Given the description of an element on the screen output the (x, y) to click on. 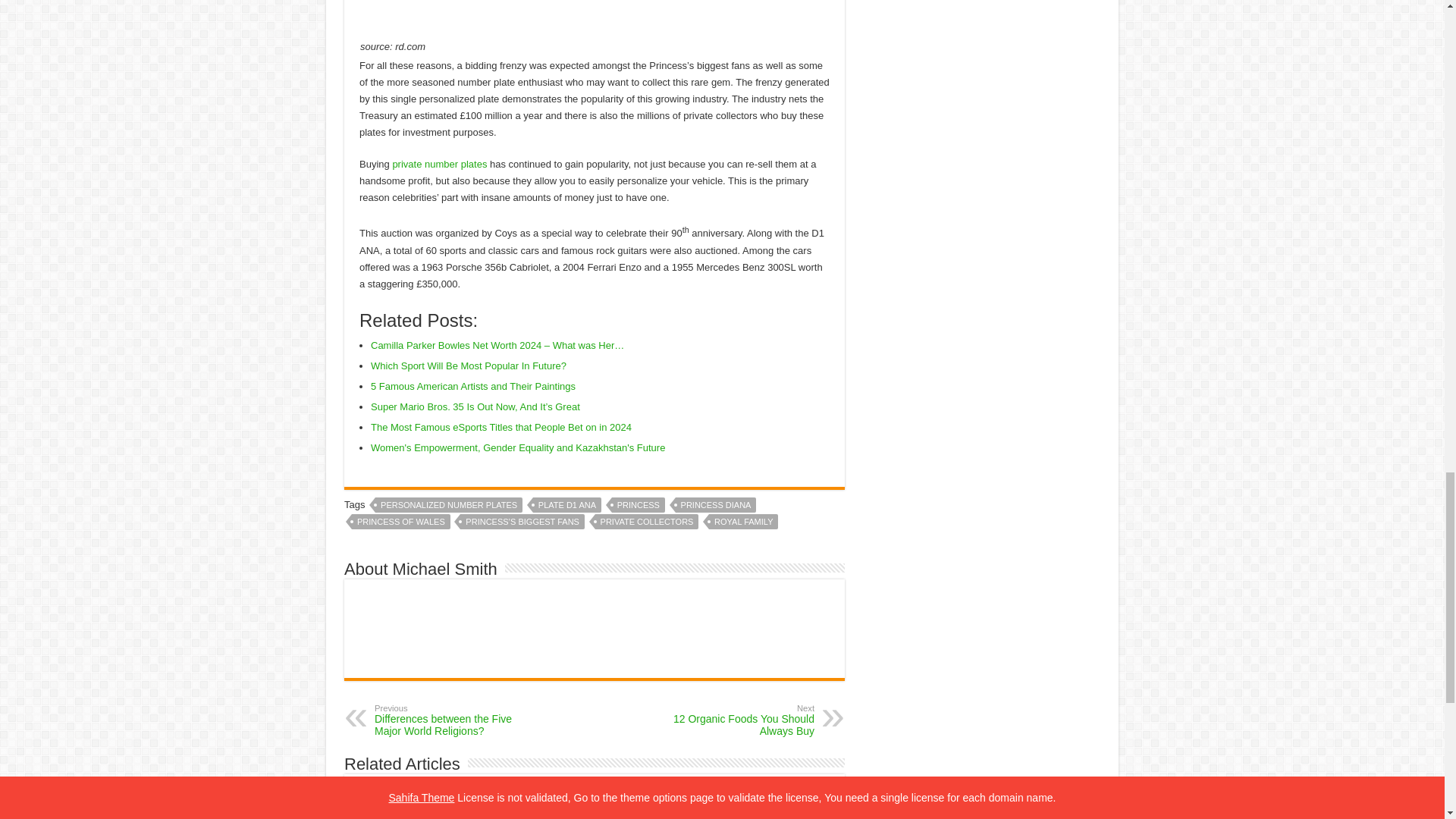
Women's Empowerment, Gender Equality and Kazakhstan's Future (518, 447)
private number plates (438, 163)
PERSONALIZED NUMBER PLATES (448, 504)
PRINCESS DIANA (716, 504)
5 Famous American Artists and Their Paintings (473, 386)
PRINCESS (638, 504)
ROYAL FAMILY (743, 521)
Which Sport Will Be Most Popular In Future? (468, 365)
PRIVATE COLLECTORS (646, 521)
The Most Famous eSports Titles that People Bet on in 2024 (501, 427)
PRINCESS OF WALES (400, 521)
PLATE D1 ANA (566, 504)
